Given the description of an element on the screen output the (x, y) to click on. 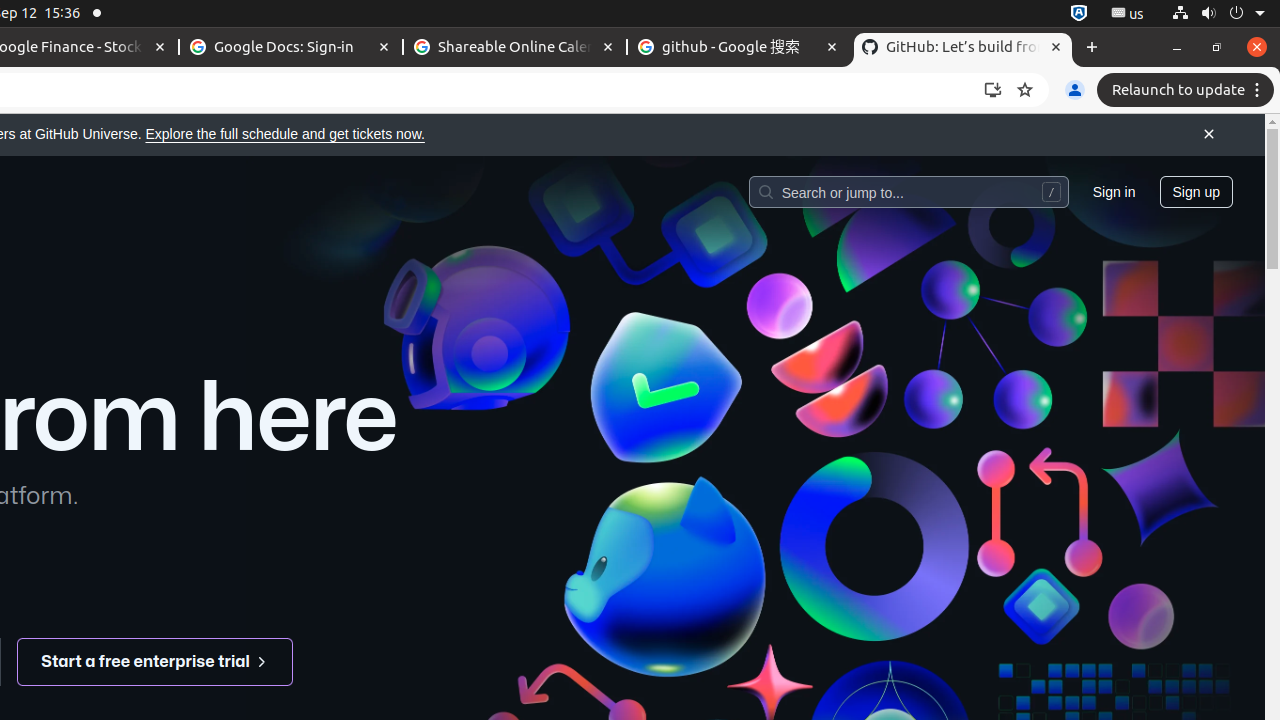
Google Docs: Sign-in - Memory usage - 31.9 MB Element type: page-tab (291, 47)
Explore the full schedule and get tickets now. Element type: link (285, 133)
Start a free enterprise trial  Element type: link (155, 661)
Bookmark this tab Element type: push-button (1025, 90)
Shareable Online Calendar and Scheduling - Google Calendar - Memory usage - 88.4 MB Element type: page-tab (515, 47)
